Given the description of an element on the screen output the (x, y) to click on. 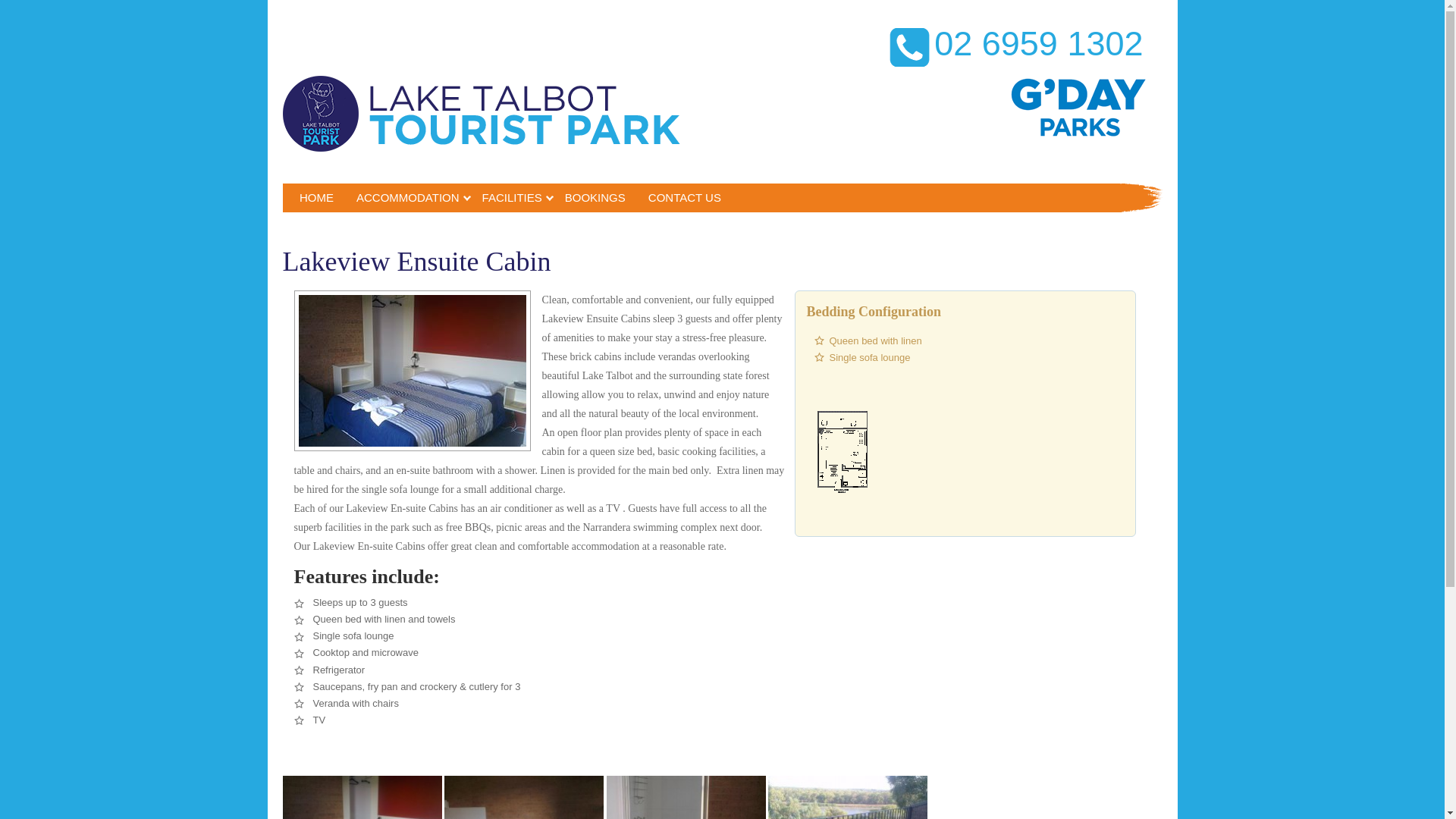
BOOKINGS (595, 197)
Facilities (511, 197)
CONTACT US (684, 197)
FACILITIES (511, 197)
BOOKINGS (595, 197)
HOME (316, 197)
Accommodation (407, 197)
ACCOMMODATION (407, 197)
CONTACT US (684, 197)
Home (316, 197)
